Given the description of an element on the screen output the (x, y) to click on. 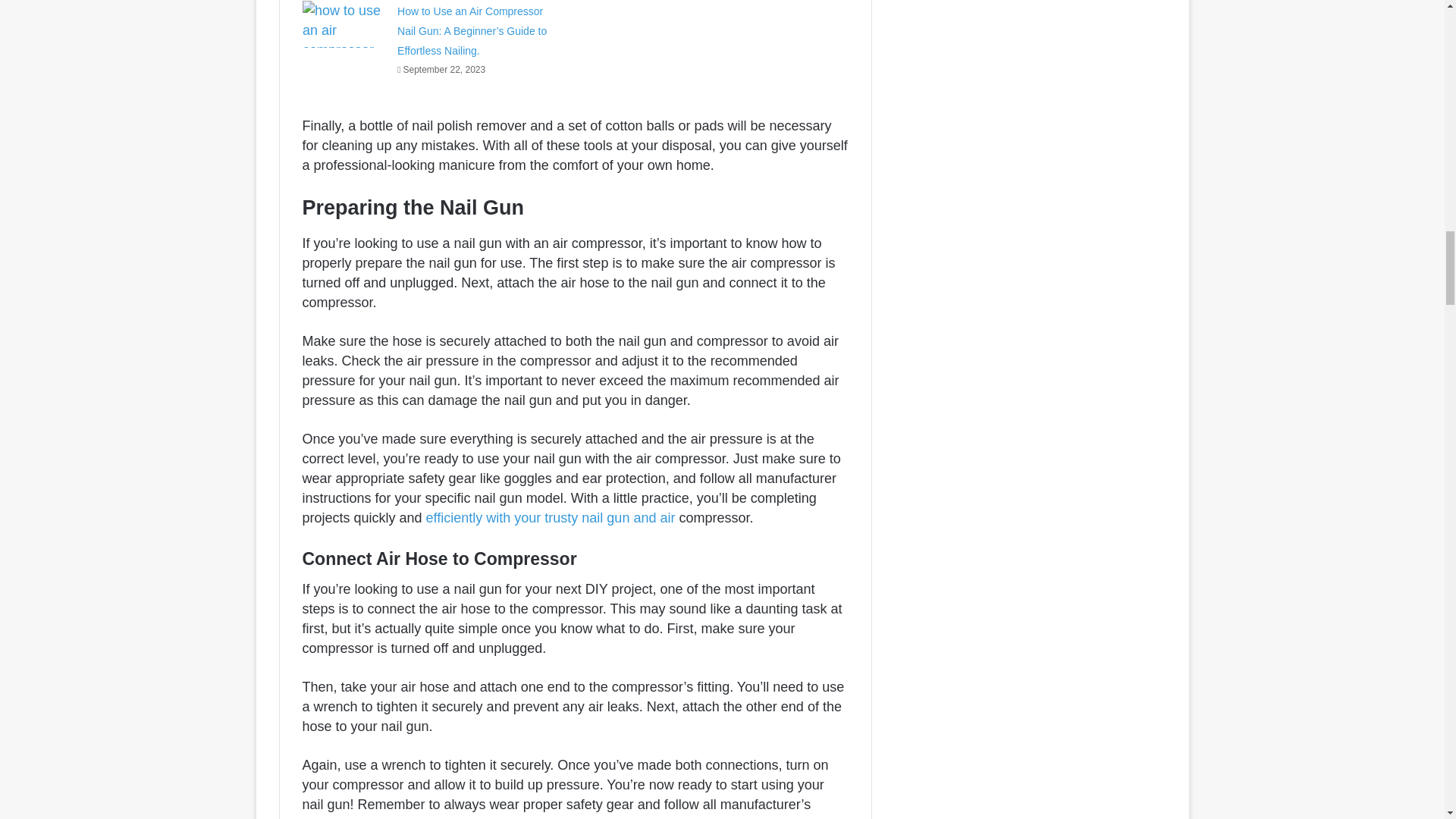
how to use an air compressor nail gun (343, 23)
efficiently with your trusty nail gun and air (550, 517)
